Given the description of an element on the screen output the (x, y) to click on. 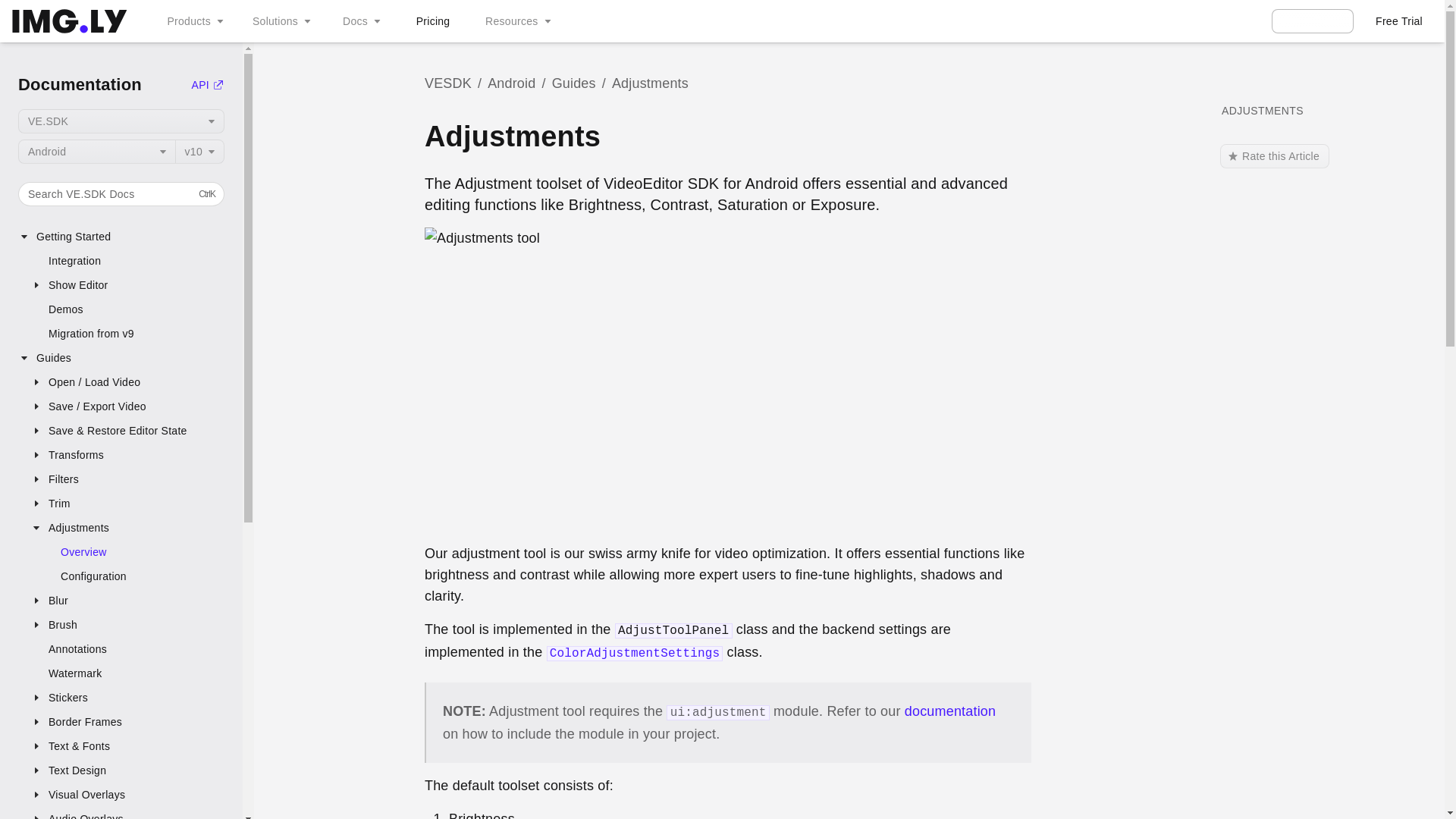
Guides (120, 357)
Docs (360, 21)
Border Frames (126, 721)
Text Design (126, 770)
v10 (120, 193)
Resources (200, 151)
Filters (516, 21)
Stickers (126, 478)
Solutions (126, 697)
